Given the description of an element on the screen output the (x, y) to click on. 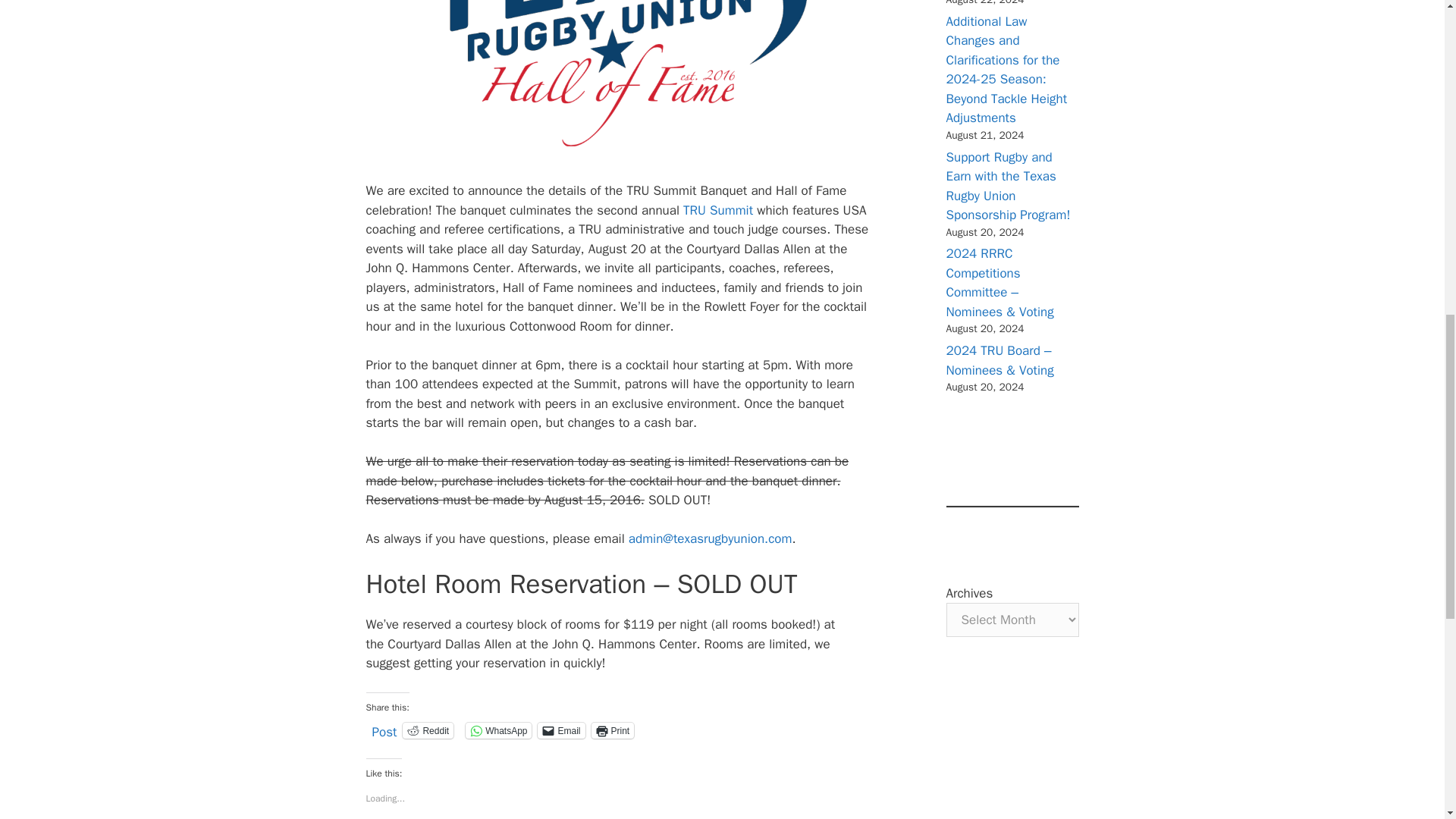
Click to share on WhatsApp (498, 730)
Click to share on Reddit (427, 730)
Scroll back to top (1406, 720)
Click to print (612, 730)
Click to email a link to a friend (561, 730)
